Given the description of an element on the screen output the (x, y) to click on. 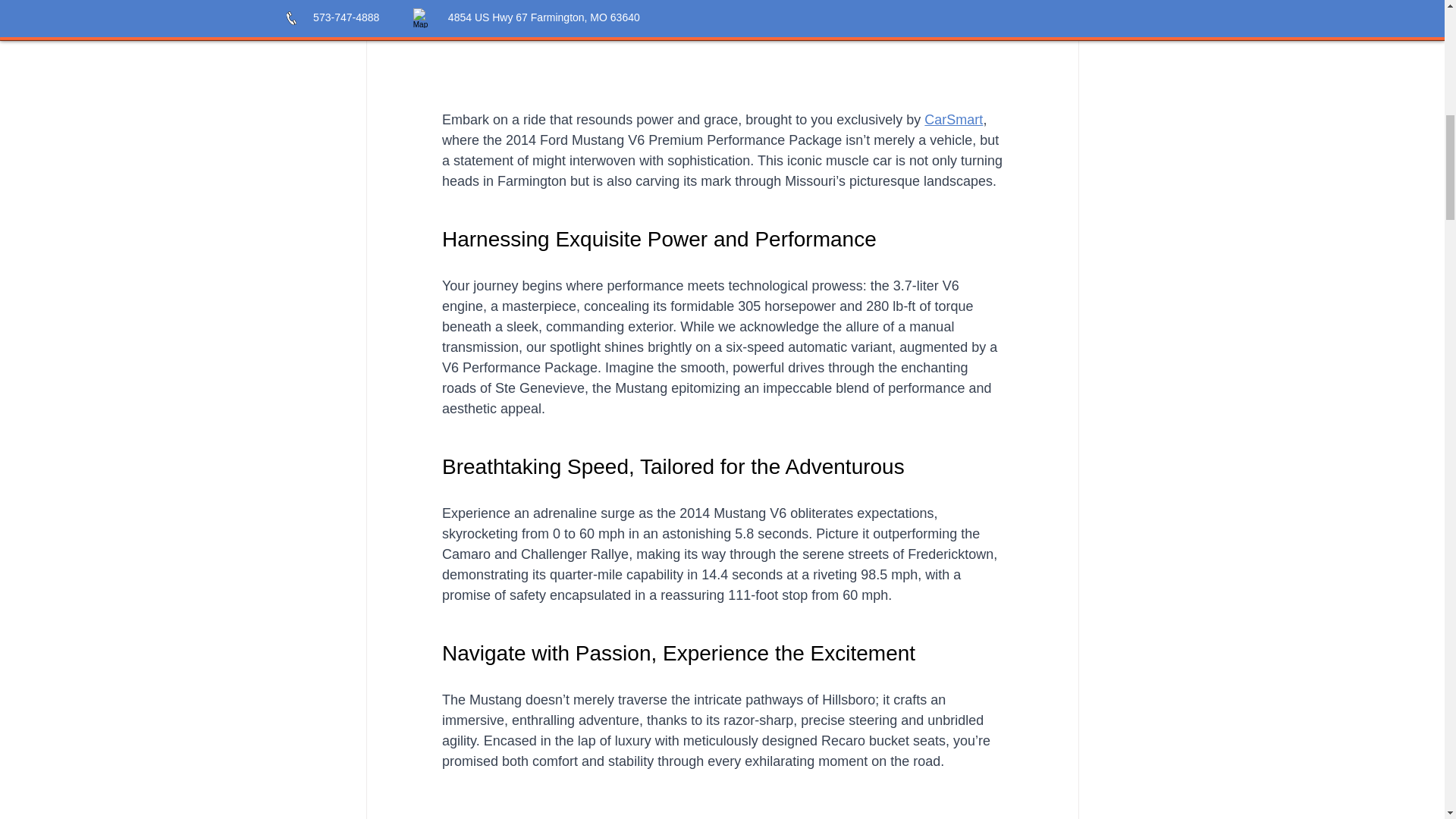
CarSmart (953, 119)
